Given the description of an element on the screen output the (x, y) to click on. 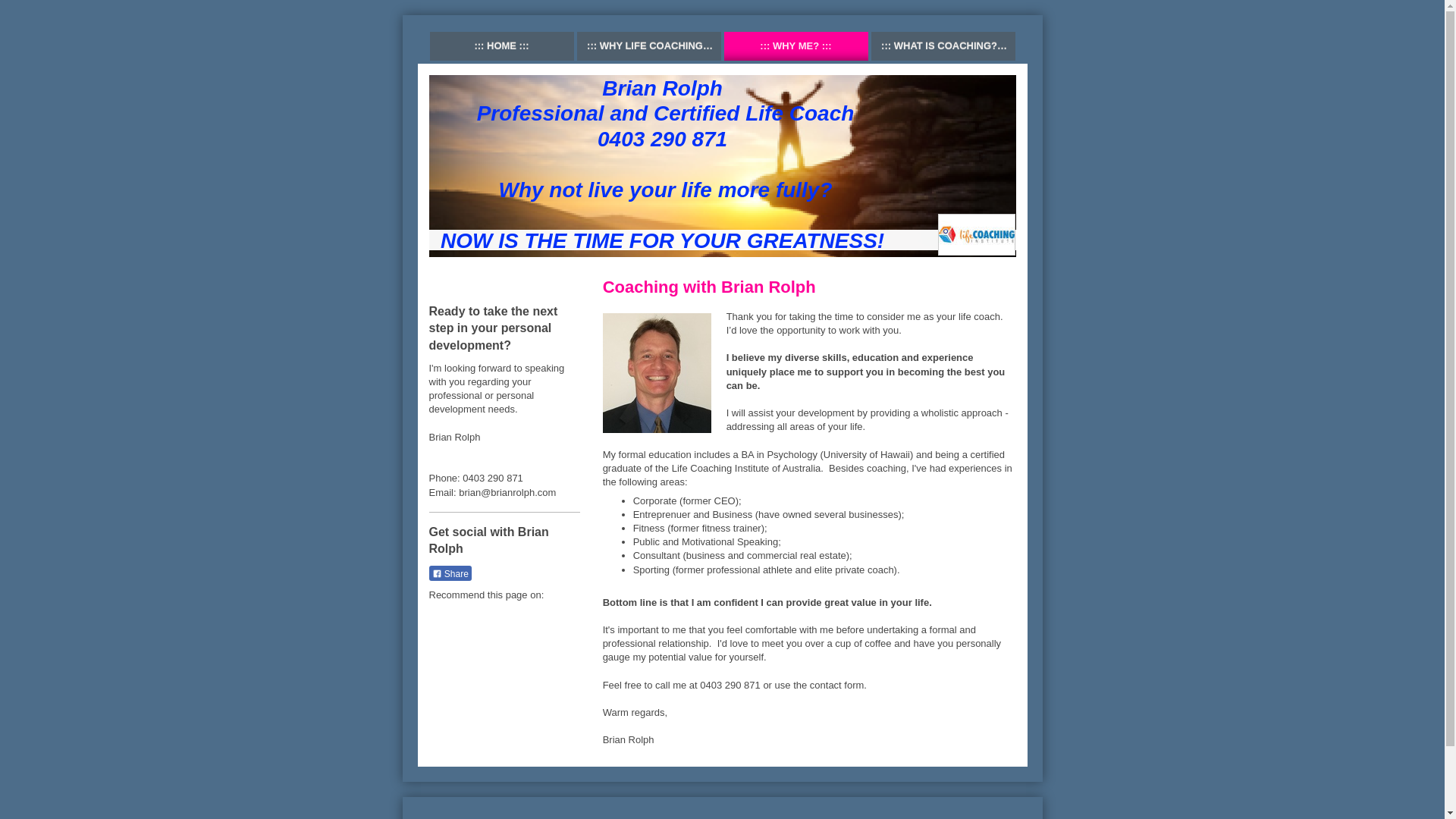
HOME (501, 45)
Folkd (535, 617)
WHY ME? (795, 45)
Diigo (512, 648)
Reddit (512, 617)
FriendFeed (535, 648)
WHY LIFE COACHING? (648, 45)
Digg (489, 617)
Delicious (467, 617)
